Given the description of an element on the screen output the (x, y) to click on. 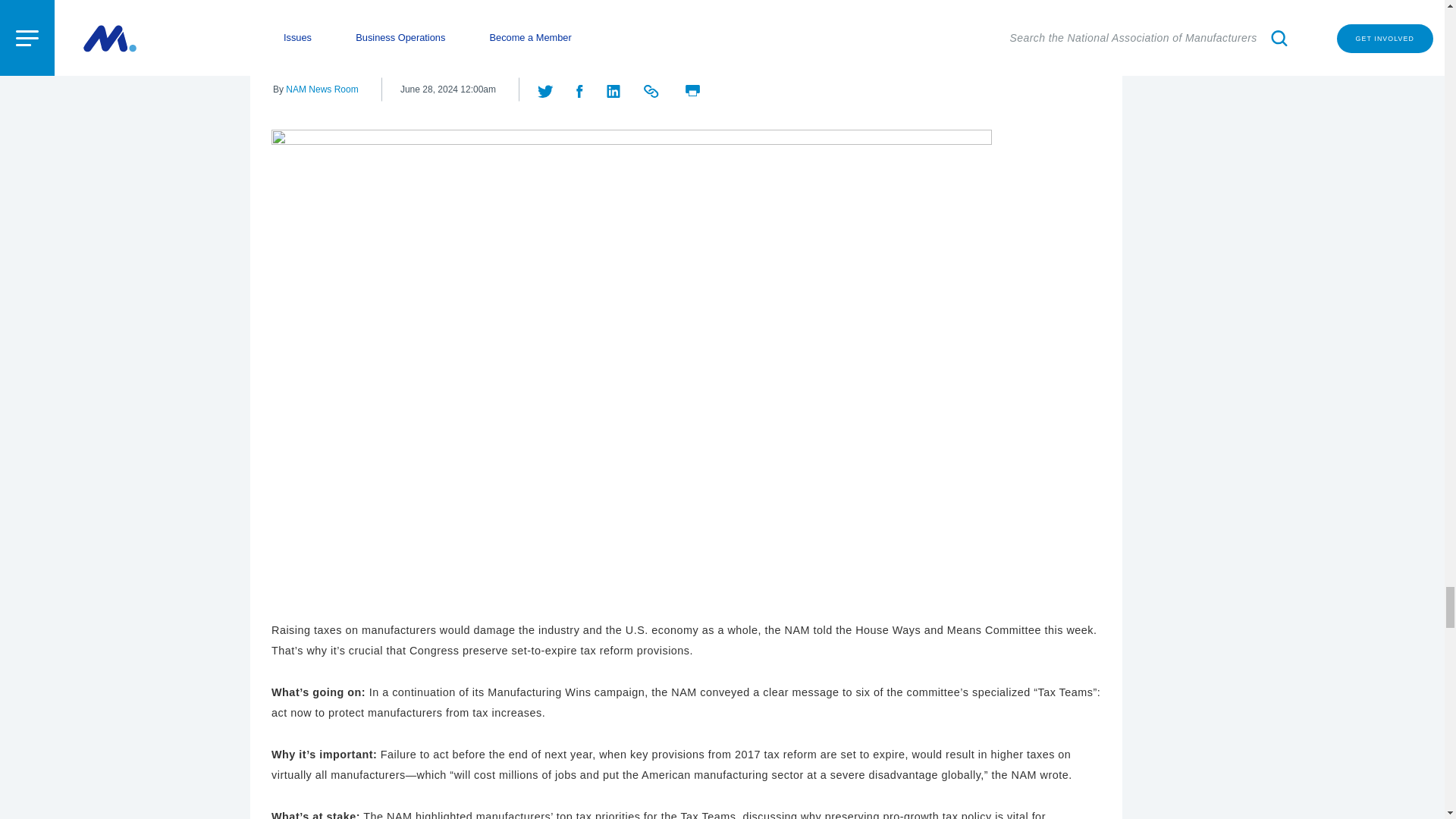
Friday, June 28th at 12:00am (448, 89)
